Given the description of an element on the screen output the (x, y) to click on. 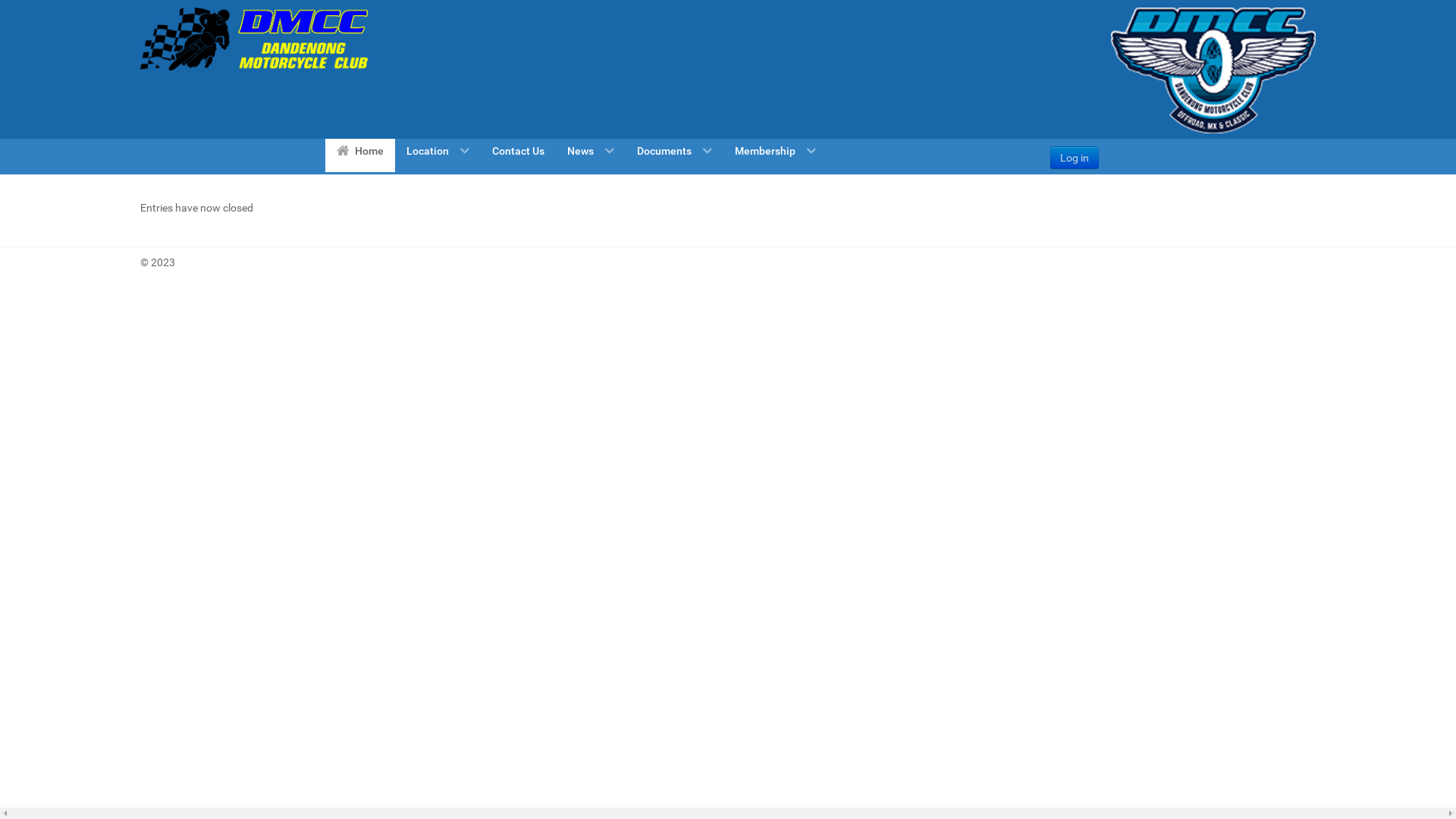
News Element type: text (590, 149)
Gantry 5 Element type: hover (1212, 70)
Log in Element type: text (1074, 157)
Gantry 5 Element type: hover (253, 38)
Location Element type: text (437, 149)
Home Element type: text (359, 149)
Contact Us Element type: text (517, 149)
Documents Element type: text (674, 149)
